Given the description of an element on the screen output the (x, y) to click on. 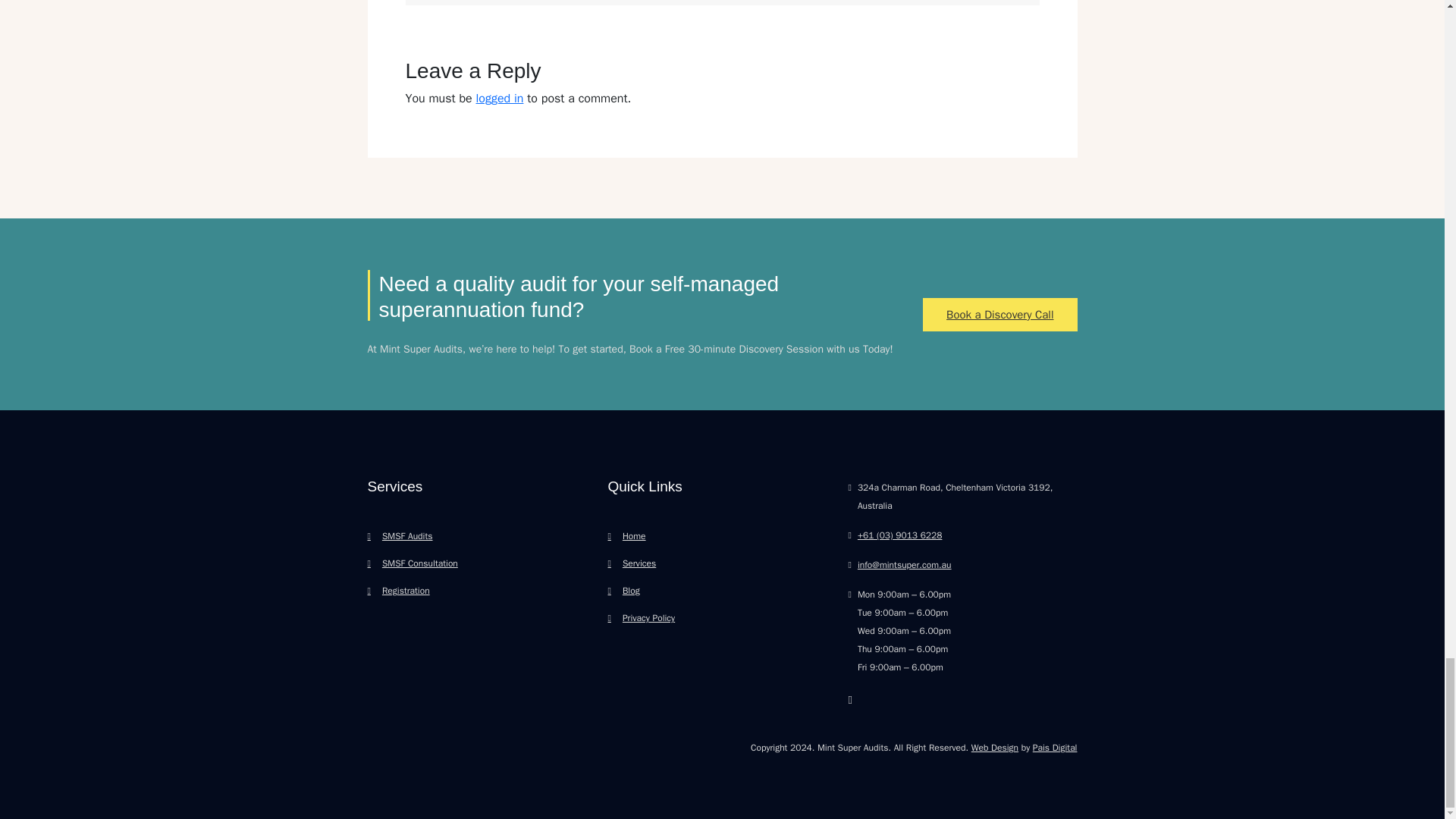
Home (627, 535)
logged in (500, 98)
Registration (397, 590)
Book a Discovery Call (1000, 315)
SMSF Audits (399, 535)
SMSF Consultation (411, 563)
Services (632, 563)
Blog (624, 590)
